Given the description of an element on the screen output the (x, y) to click on. 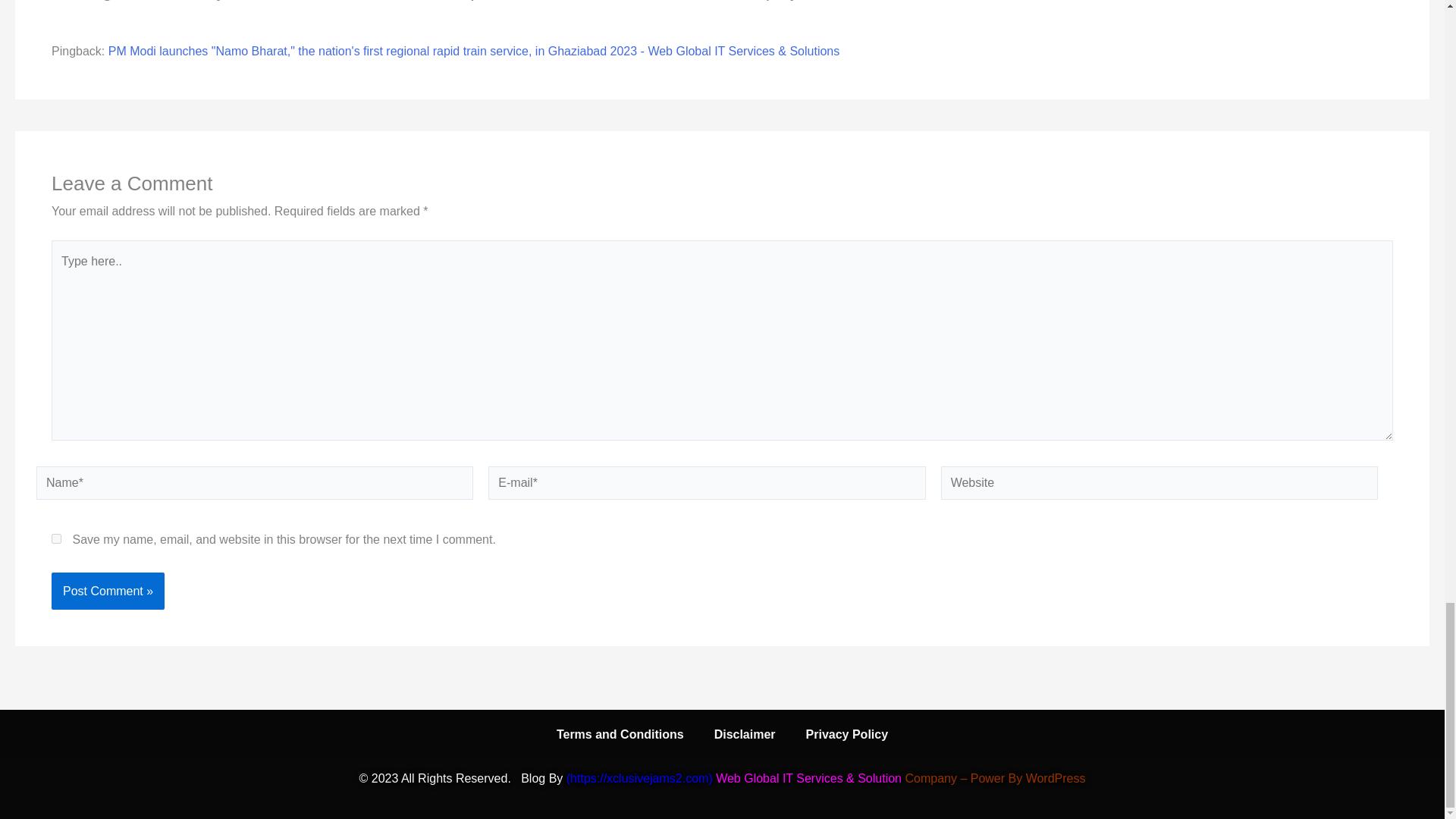
Disclaimer (744, 734)
Terms and Conditions (619, 734)
yes (55, 538)
Privacy Policy (847, 734)
